Given the description of an element on the screen output the (x, y) to click on. 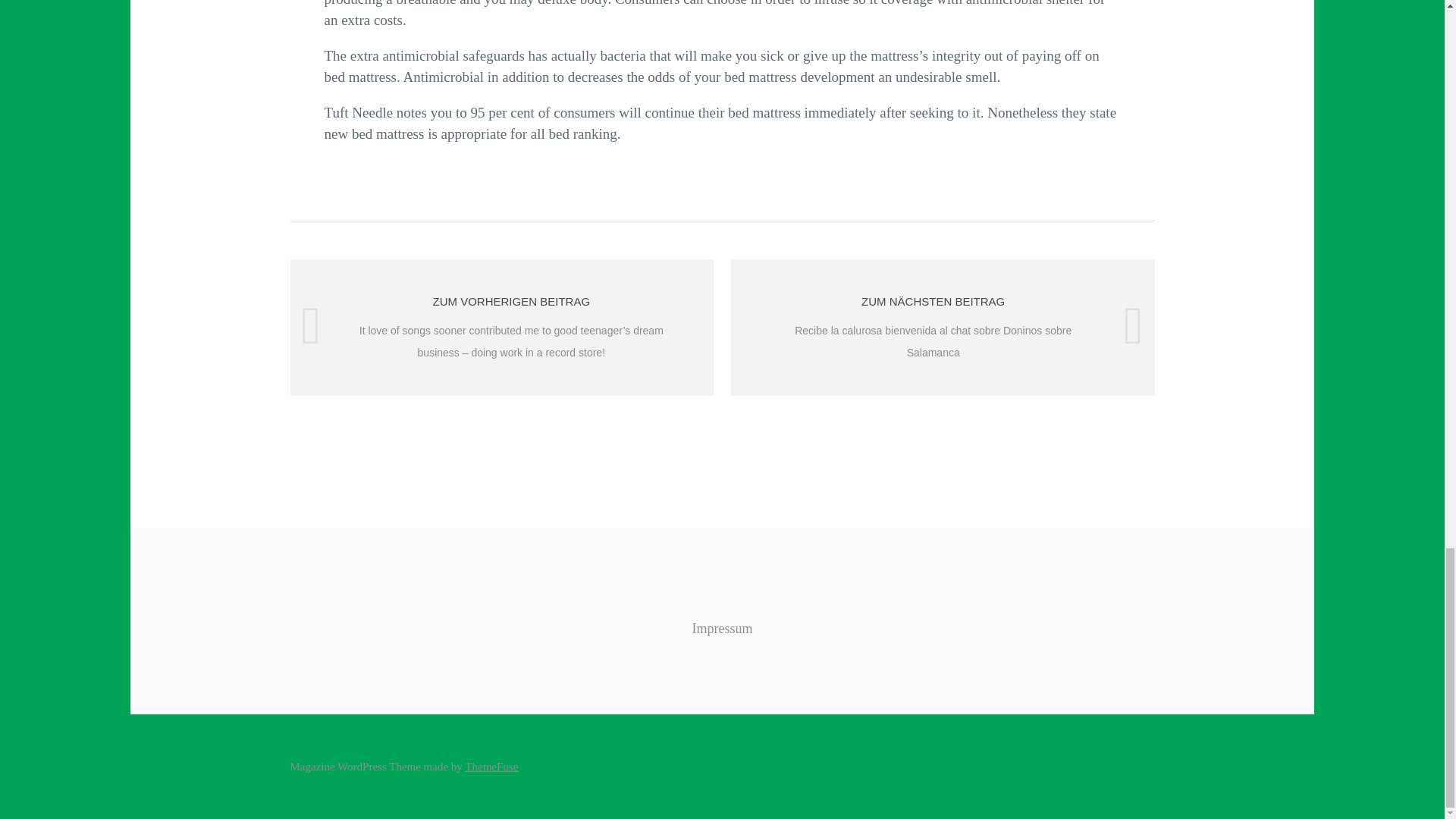
ThemeFuse (491, 766)
Impressum (721, 628)
